Given the description of an element on the screen output the (x, y) to click on. 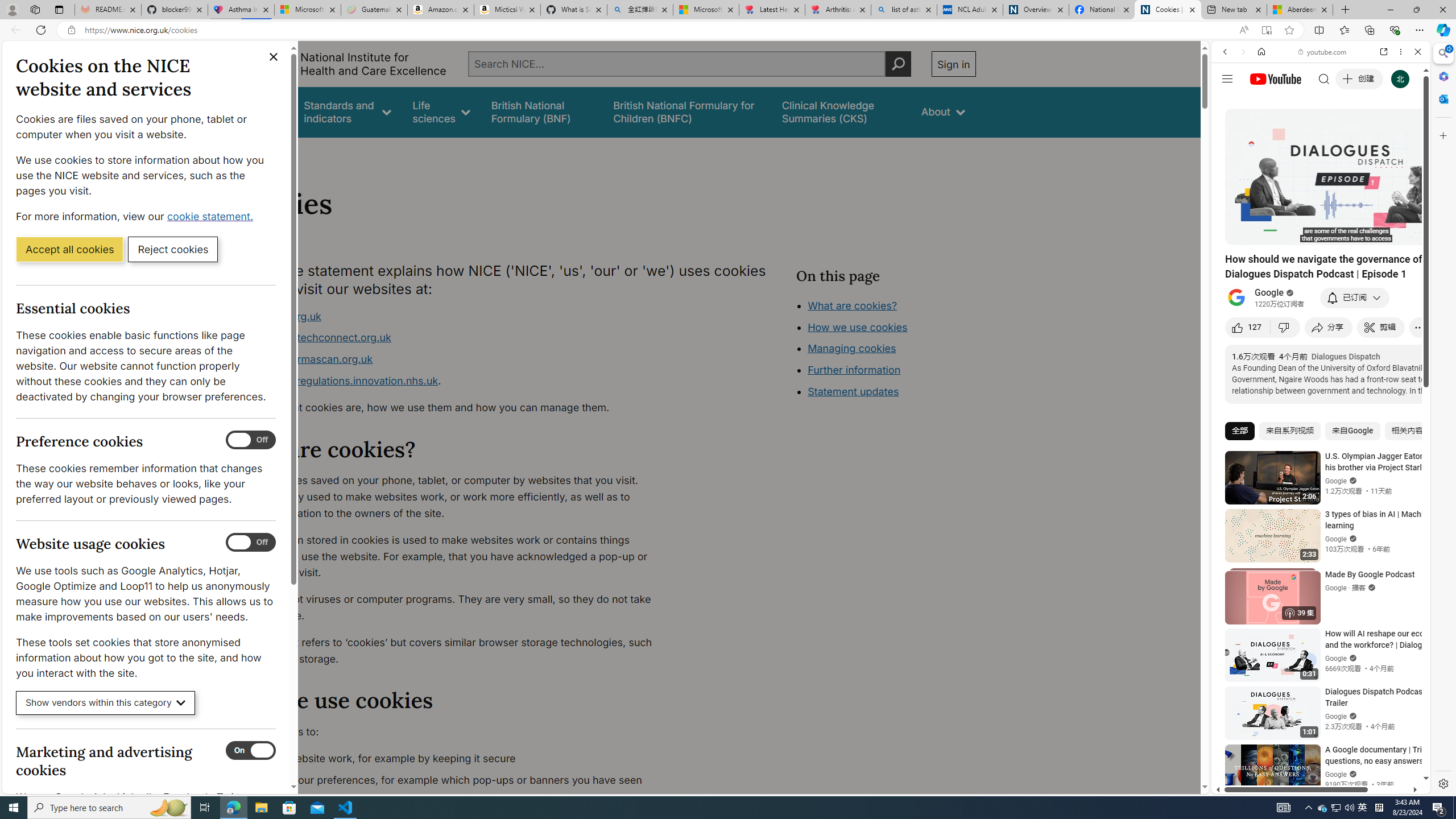
Website usage cookies (250, 542)
Show More Music (1390, 310)
Dialogues Dispatch (1345, 356)
British National Formulary for Children (BNFC) (686, 111)
Home> (246, 152)
Trailer #2 [HD] (1320, 336)
